Given the description of an element on the screen output the (x, y) to click on. 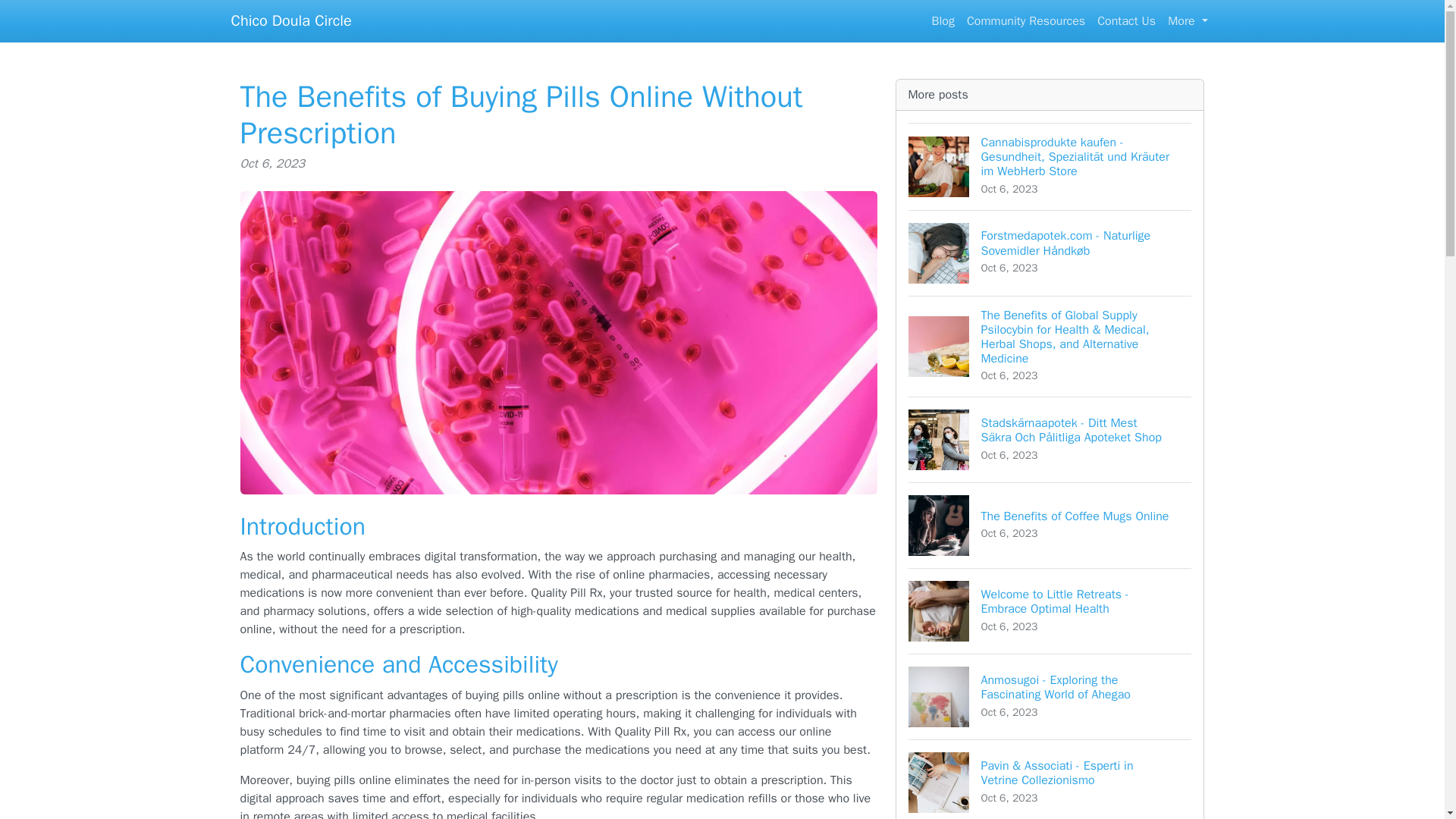
Community Resources (1025, 20)
Chico Doula Circle (290, 20)
Blog (943, 20)
More (1050, 525)
Contact Us (1186, 20)
